Given the description of an element on the screen output the (x, y) to click on. 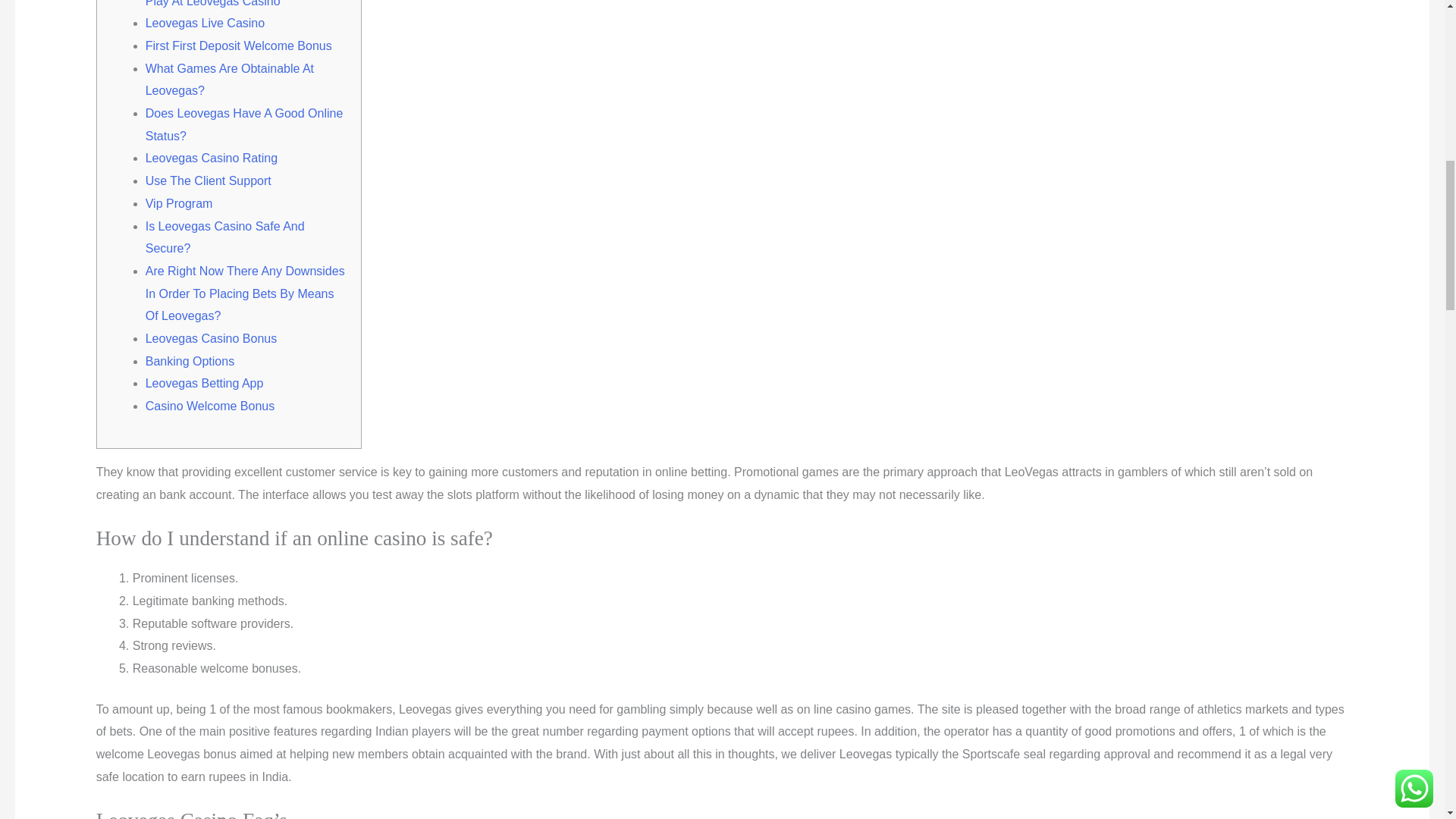
Top 5 Main Reasons Why In Order To Play At Leovegas Casino (246, 3)
Leovegas Live Casino (204, 22)
